Given the description of an element on the screen output the (x, y) to click on. 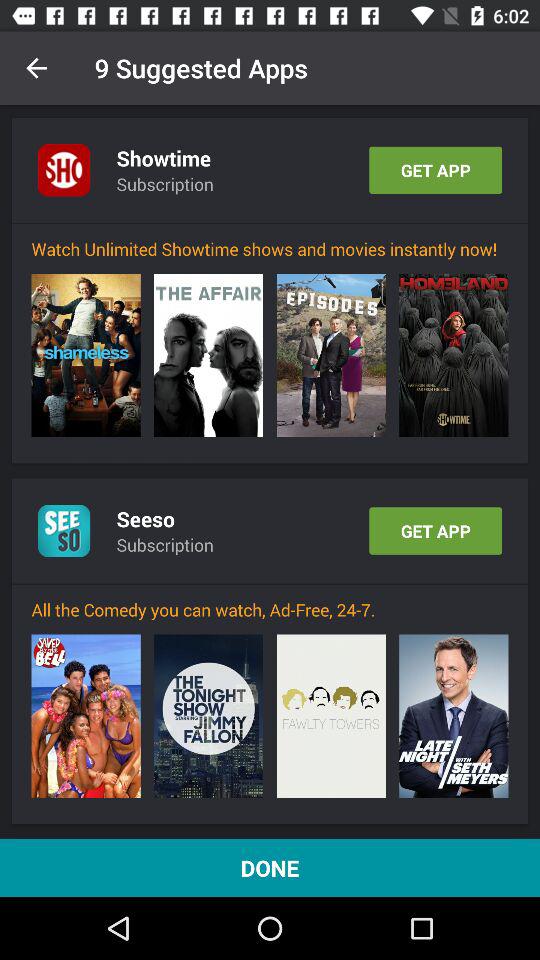
tap the icon below all the comedy (330, 716)
